Given the description of an element on the screen output the (x, y) to click on. 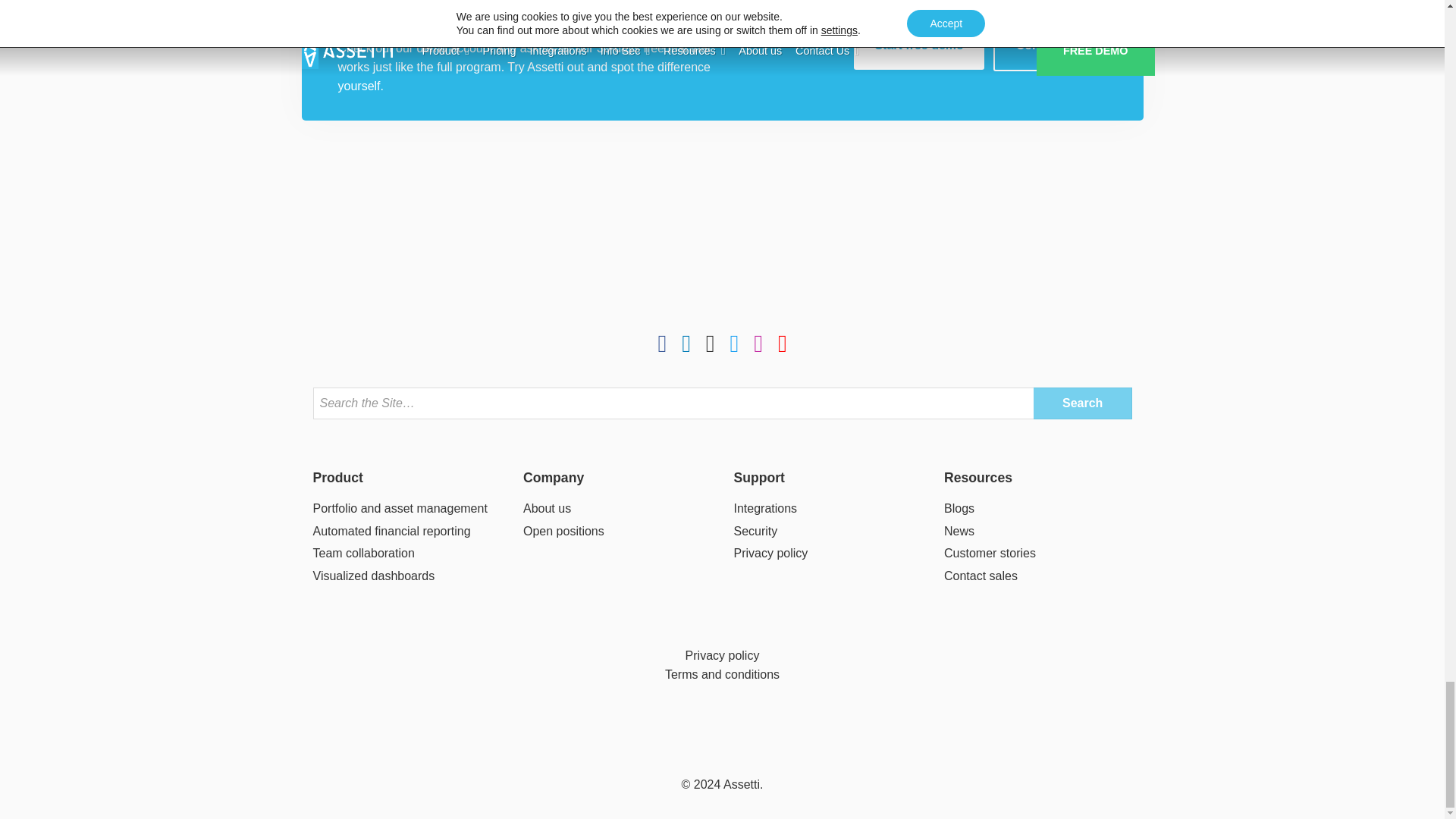
Search (1082, 403)
